Given the description of an element on the screen output the (x, y) to click on. 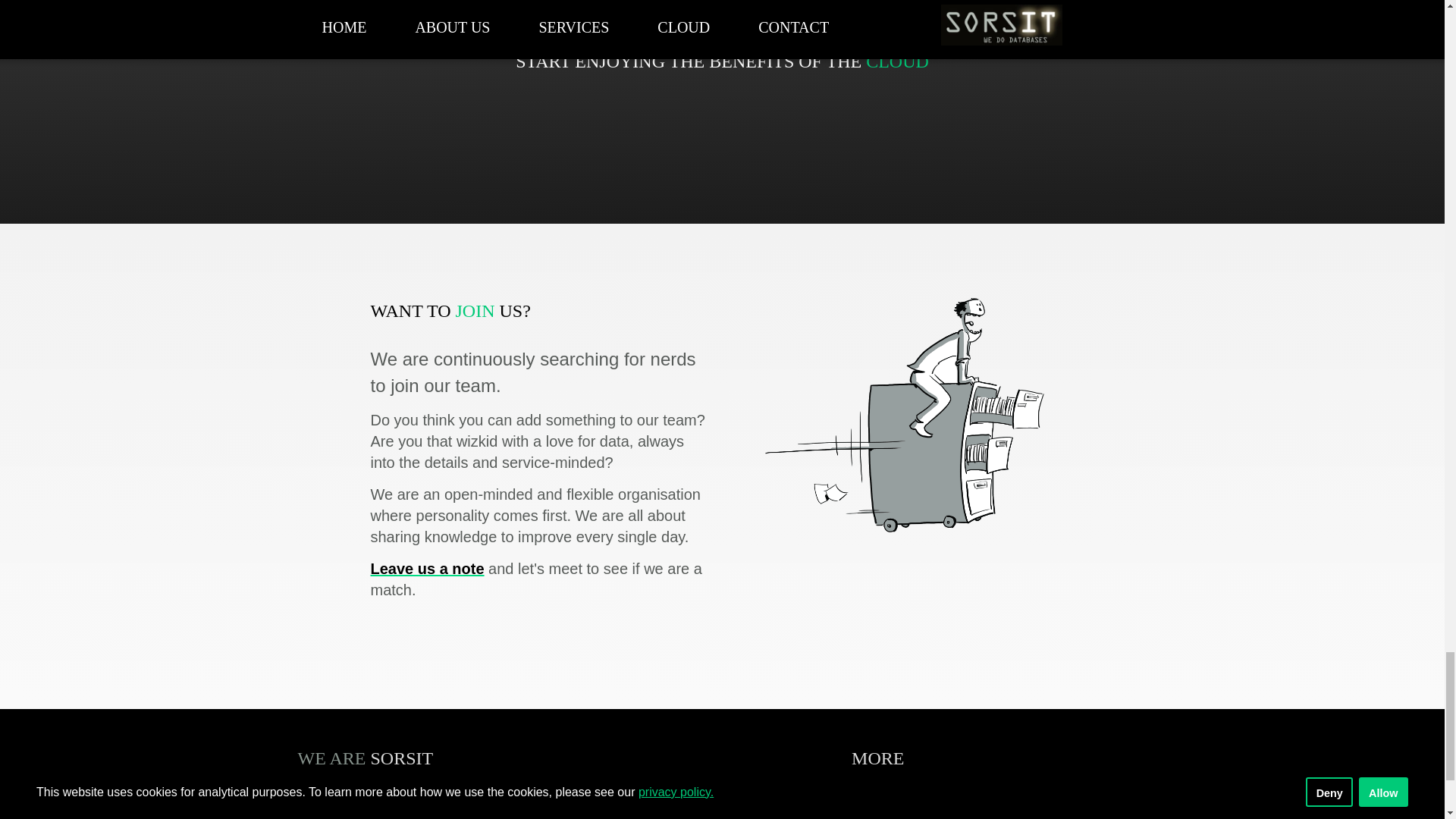
Leave us a note (426, 568)
Privacy policy (897, 803)
Data erasure request (922, 817)
